Given the description of an element on the screen output the (x, y) to click on. 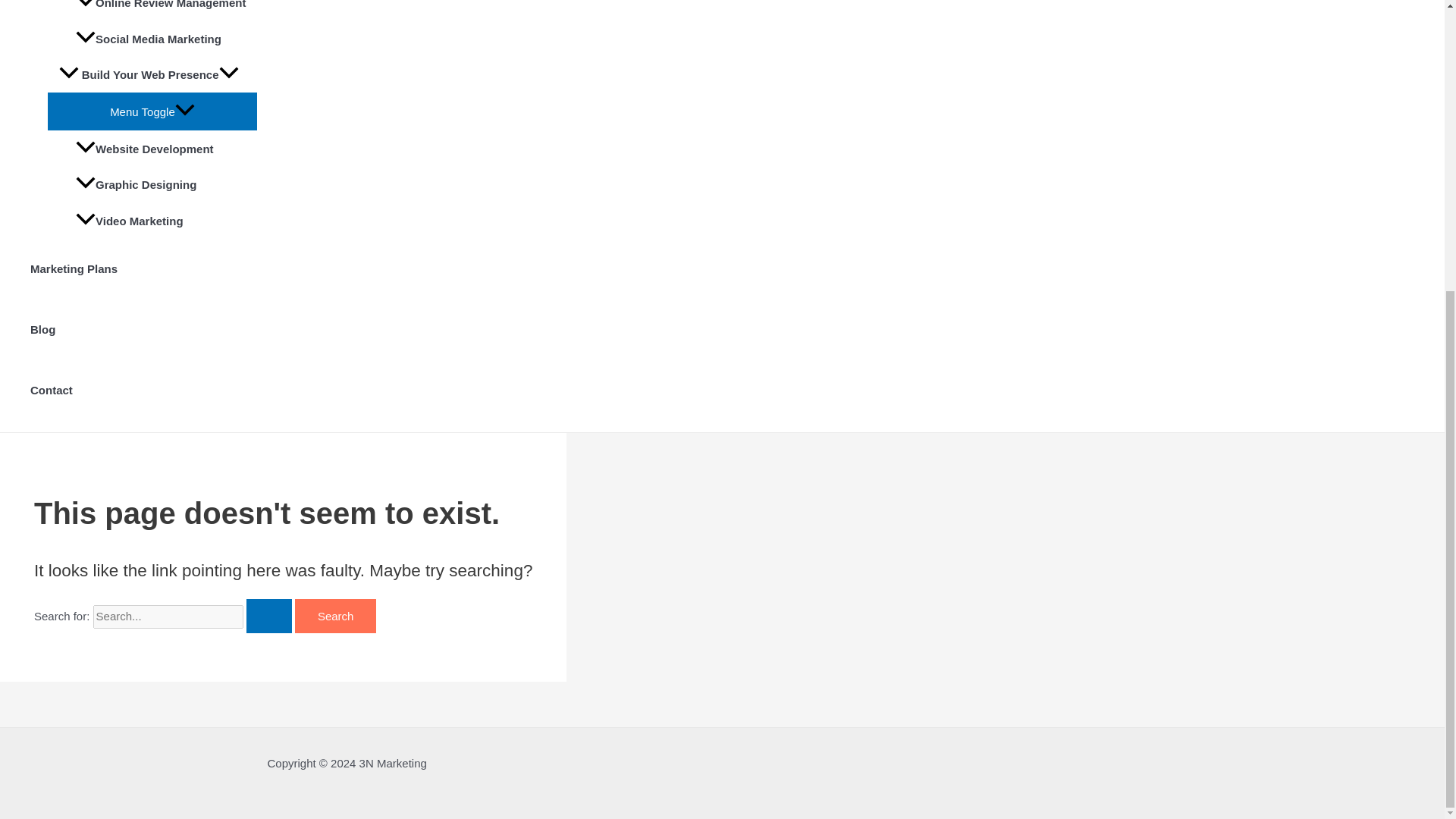
Contact (143, 390)
Graphic Designing (160, 185)
Search (336, 615)
Search (336, 615)
Build Your Web Presence (151, 74)
Video Marketing (160, 220)
Menu Toggle (151, 110)
Online Review Management (160, 10)
Marketing Plans (143, 269)
Website Development (160, 148)
Social Media Marketing (160, 38)
Blog (143, 329)
